Given the description of an element on the screen output the (x, y) to click on. 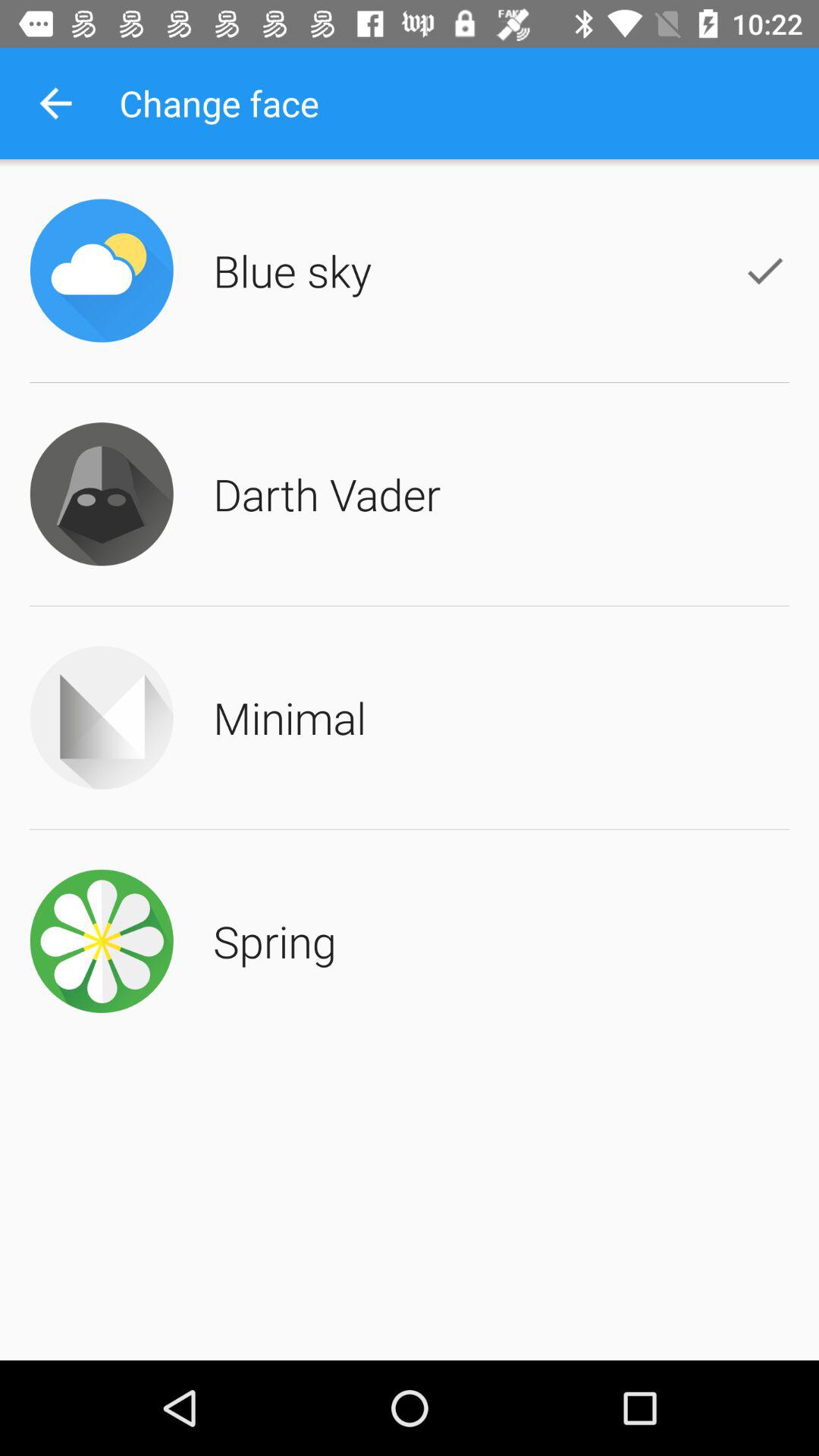
launch item above minimal (326, 493)
